Given the description of an element on the screen output the (x, y) to click on. 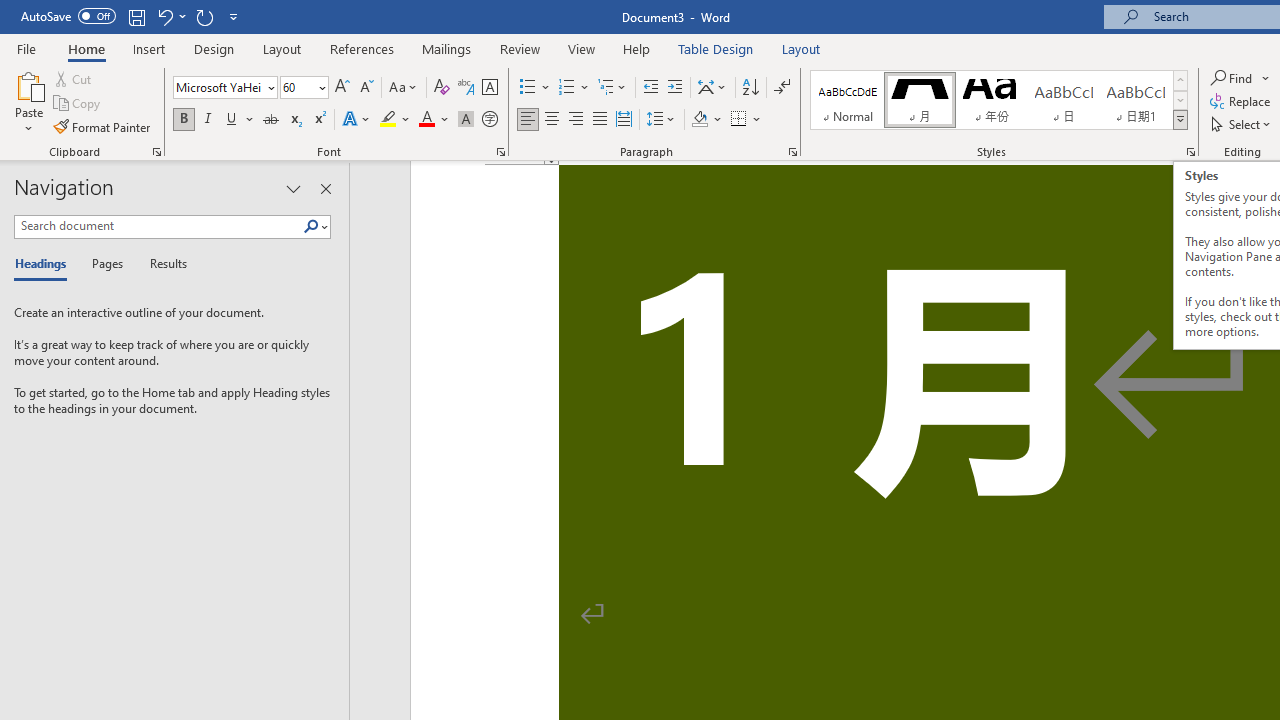
Class: NetUIImage (1181, 119)
Justify (599, 119)
Numbering (573, 87)
Design (214, 48)
Bullets (535, 87)
Paste (28, 102)
References (362, 48)
Font Color (434, 119)
Text Highlight Color (395, 119)
Align Right (575, 119)
Results (161, 264)
Change Case (404, 87)
Insert (149, 48)
Search (311, 227)
